Given the description of an element on the screen output the (x, y) to click on. 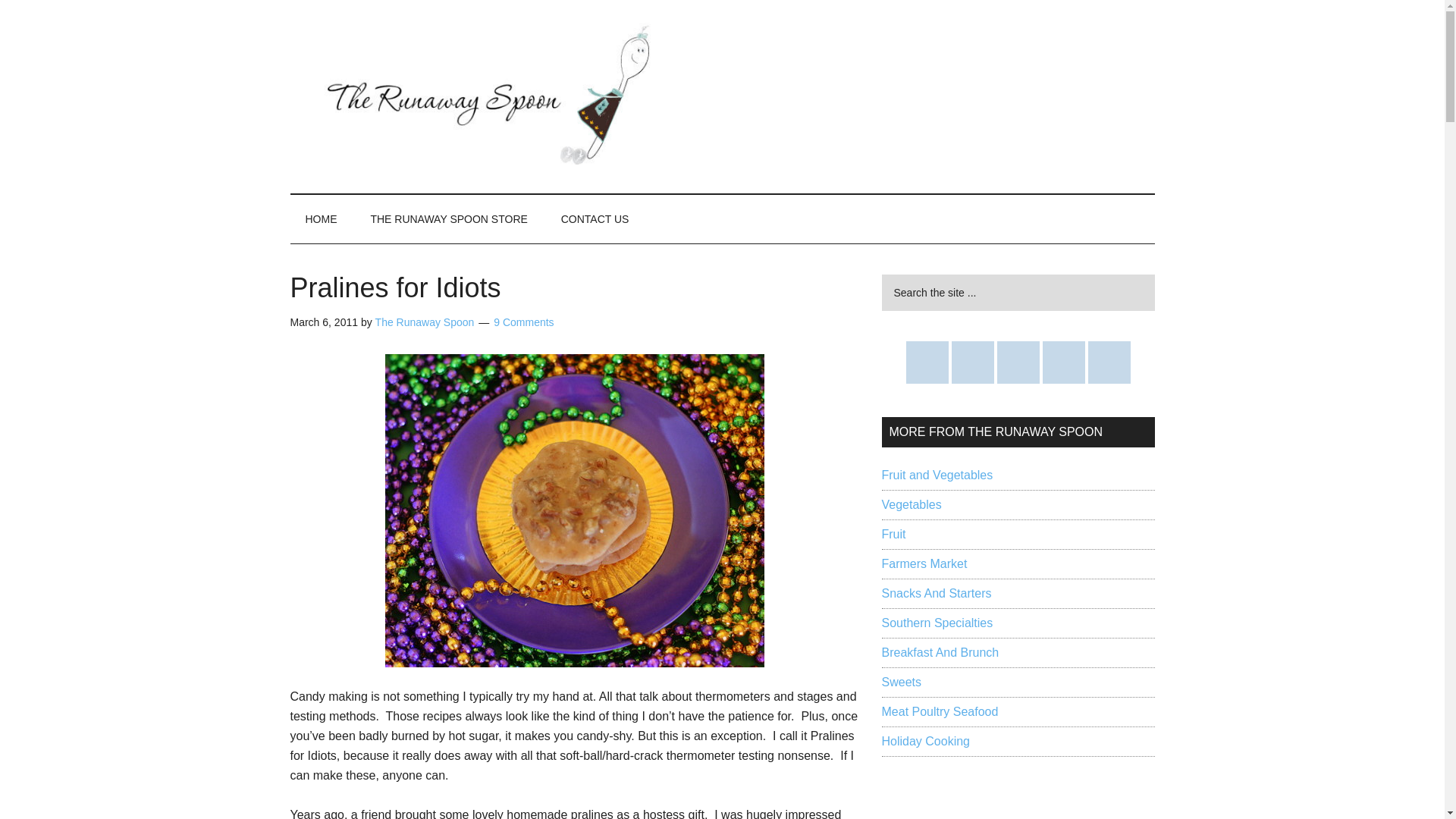
9 Comments (523, 322)
HOME (320, 218)
The Runaway Spoon (424, 322)
THE RUNAWAY SPOON STORE (448, 218)
CONTACT US (595, 218)
